Given the description of an element on the screen output the (x, y) to click on. 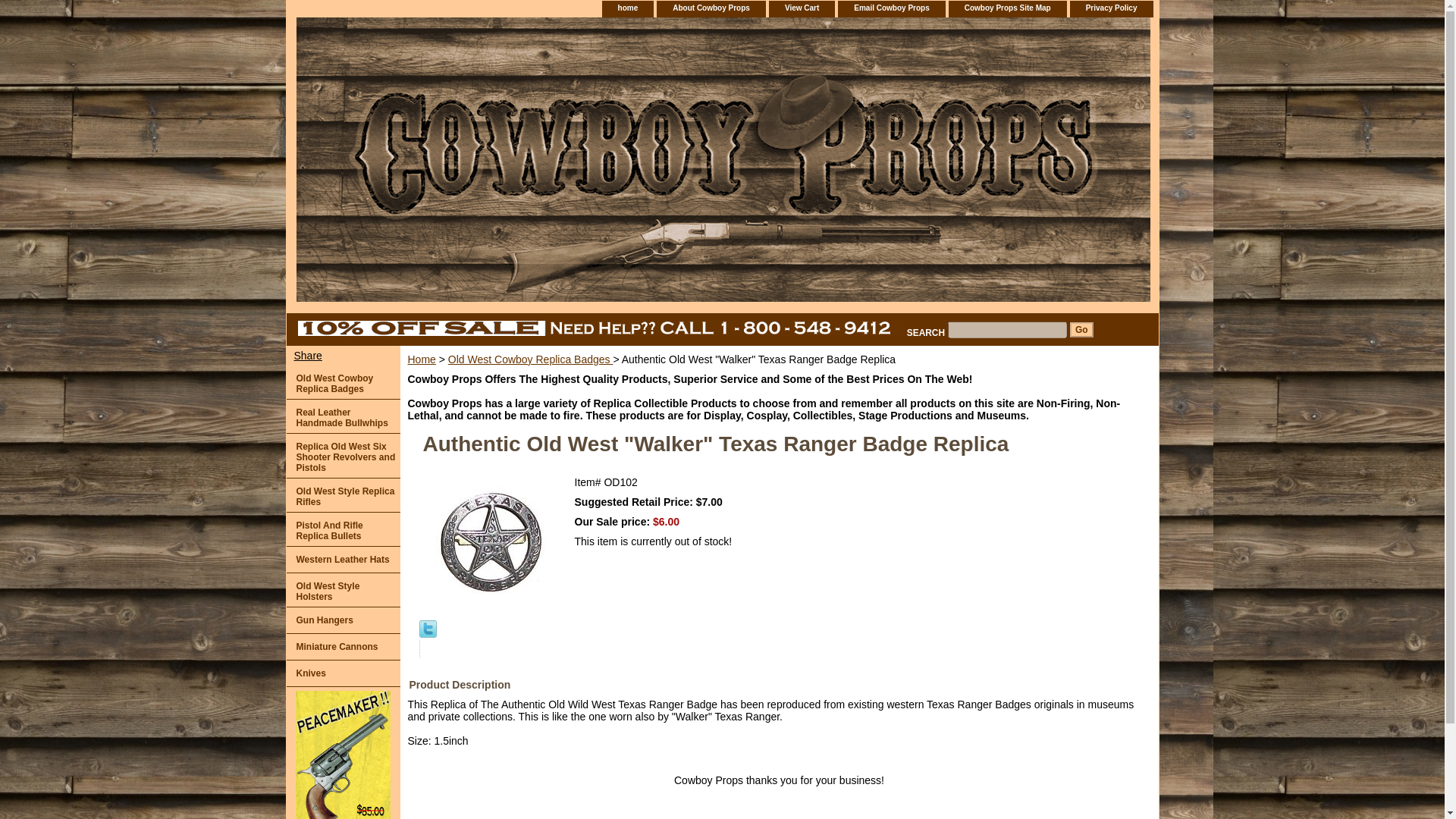
Share (306, 355)
Knives (343, 673)
Old West Style Replica Rifles (343, 495)
Old West Style Replica Rifles (343, 495)
Old West Style Holsters (343, 590)
Authentic Old West "Walker" Texas Ranger  Badge Replica (490, 540)
Email Cowboy Props (890, 8)
Old West Cowboy Replica Badges (343, 382)
Replica Old West Six Shooter Revolvers and Pistols (343, 456)
Replica Old West Six Shooter Revolvers and Pistols  (343, 456)
Cowboy Props Site Map (1007, 8)
Old West Cowboy Replica Badges  (343, 382)
Old West Style Holsters (343, 590)
home (627, 8)
About Cowboy Props (711, 8)
